Given the description of an element on the screen output the (x, y) to click on. 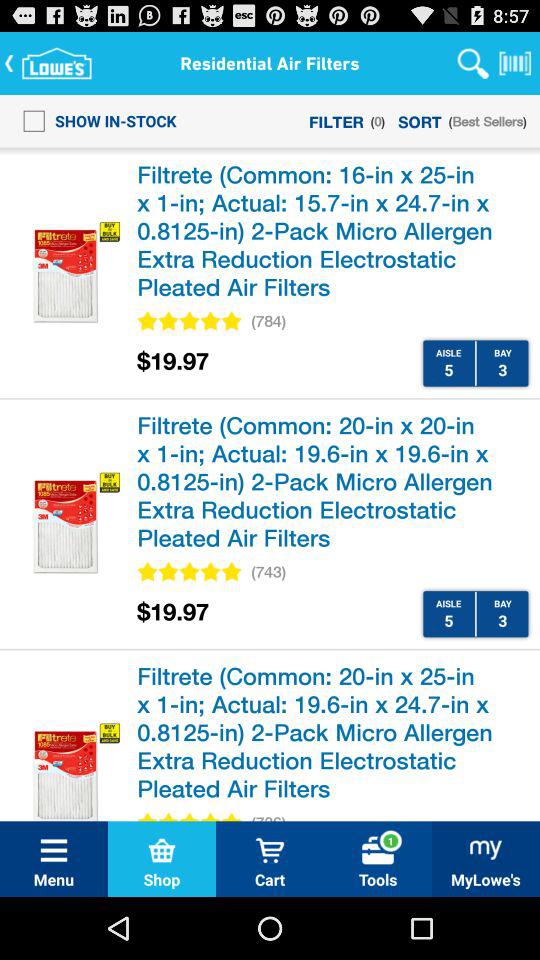
select (743) icon (268, 572)
